Given the description of an element on the screen output the (x, y) to click on. 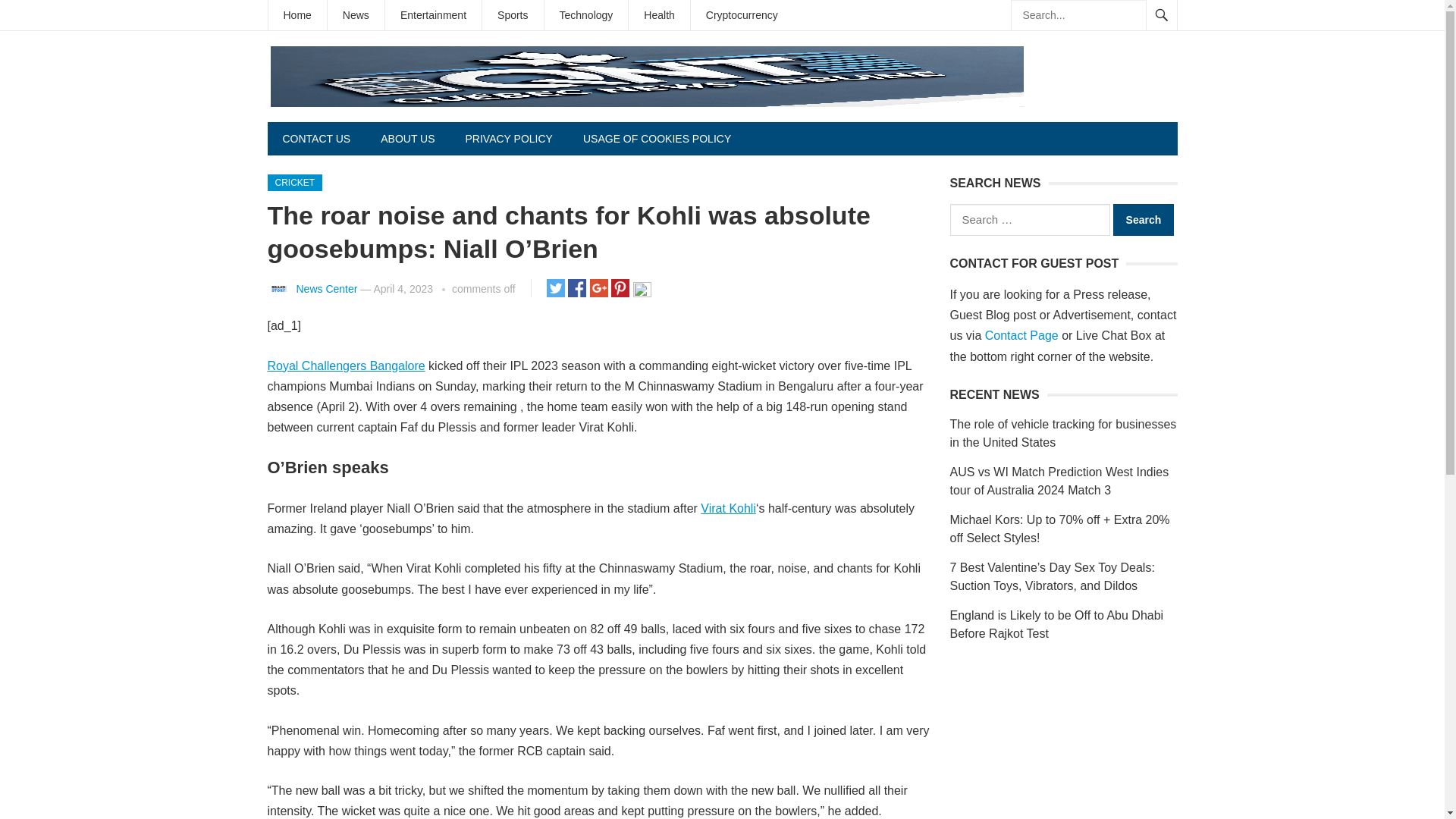
News Center (325, 288)
Cryptocurrency (741, 15)
CRICKET (293, 182)
Health (658, 15)
News (355, 15)
Posts by News Center (325, 288)
ABOUT US (407, 138)
Entertainment (433, 15)
PRIVACY POLICY (508, 138)
Sports (512, 15)
